Given the description of an element on the screen output the (x, y) to click on. 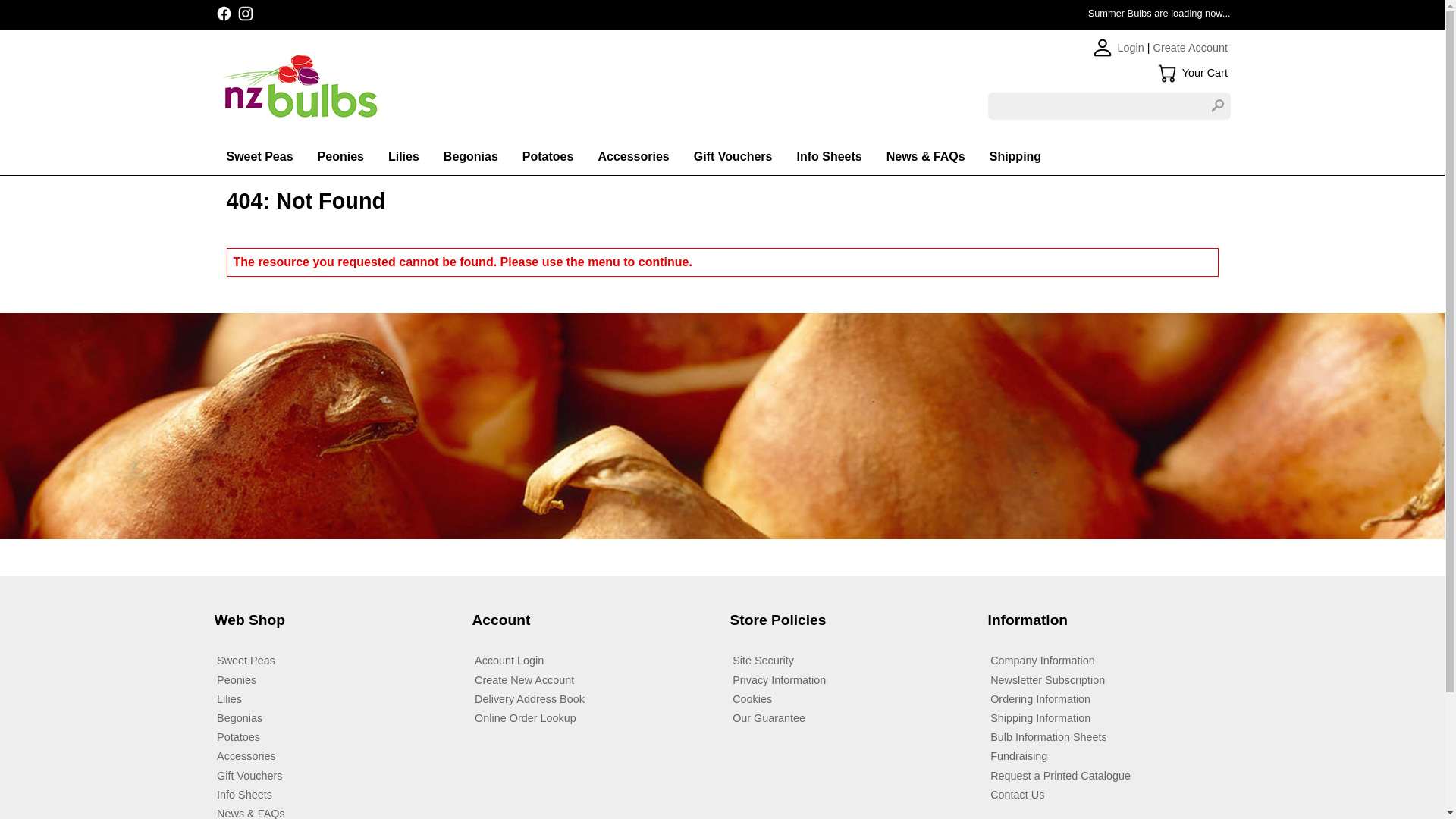
Your Cart (1166, 73)
Gift Vouchers (732, 156)
Begonias (470, 156)
Info Sheets (828, 156)
Accessories (633, 156)
Create Account (1190, 47)
Peonies (335, 679)
Lilies (335, 698)
Login Status (1102, 47)
Sweet Peas (335, 660)
Instagram (245, 13)
Facebook (223, 13)
Potatoes (548, 156)
Facebook (223, 13)
Home (468, 88)
